Given the description of an element on the screen output the (x, y) to click on. 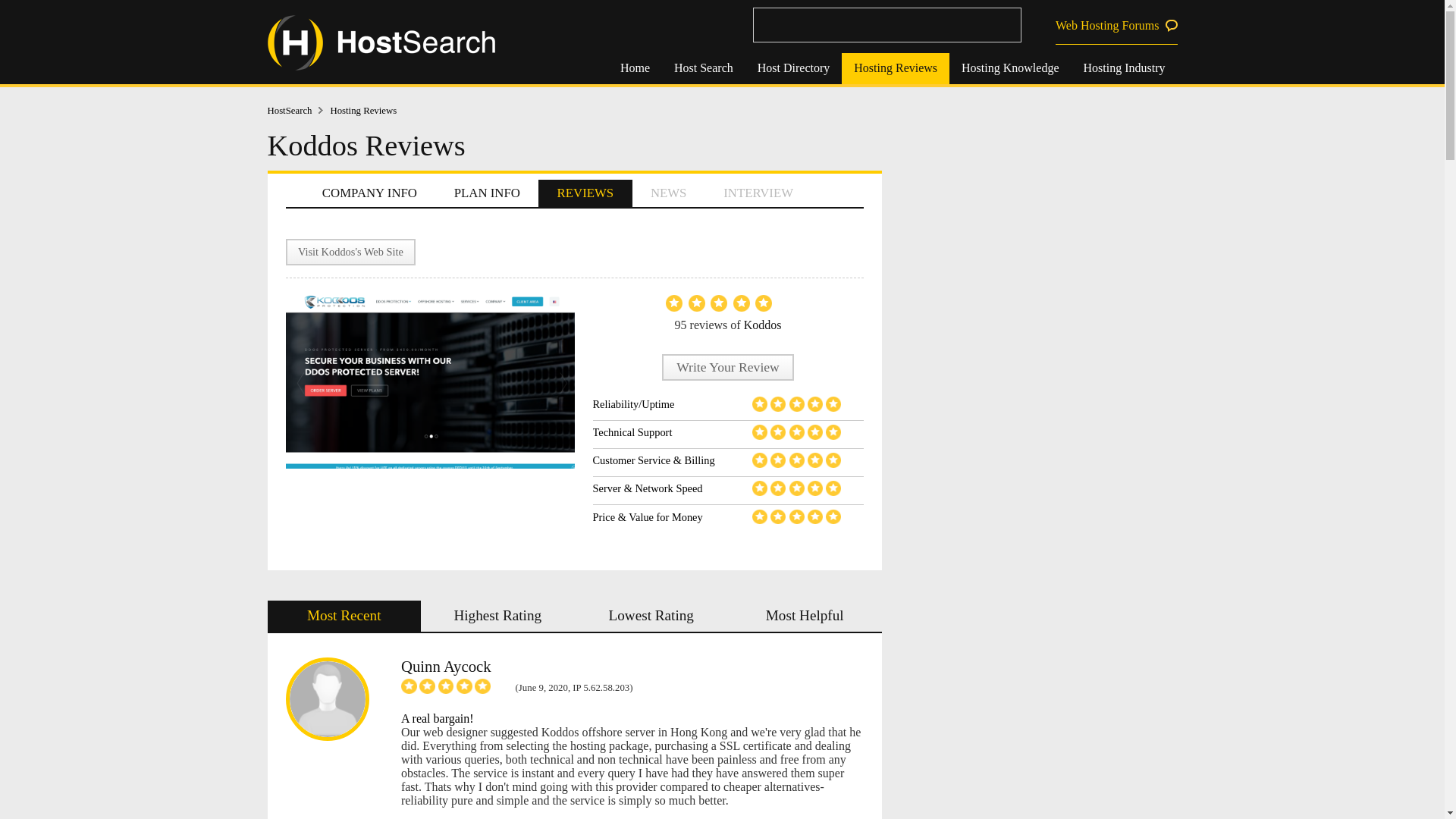
Sort by Most Helpful (805, 615)
Hosting Industry (1123, 68)
Home (635, 68)
Hosting Reviews (363, 111)
INTERVIEW (758, 193)
HostSearch (298, 111)
Sort by Highest Rating (497, 615)
Host Search (703, 68)
Hosting Reviews (895, 68)
Search for hosting providers and more... (886, 24)
